Given the description of an element on the screen output the (x, y) to click on. 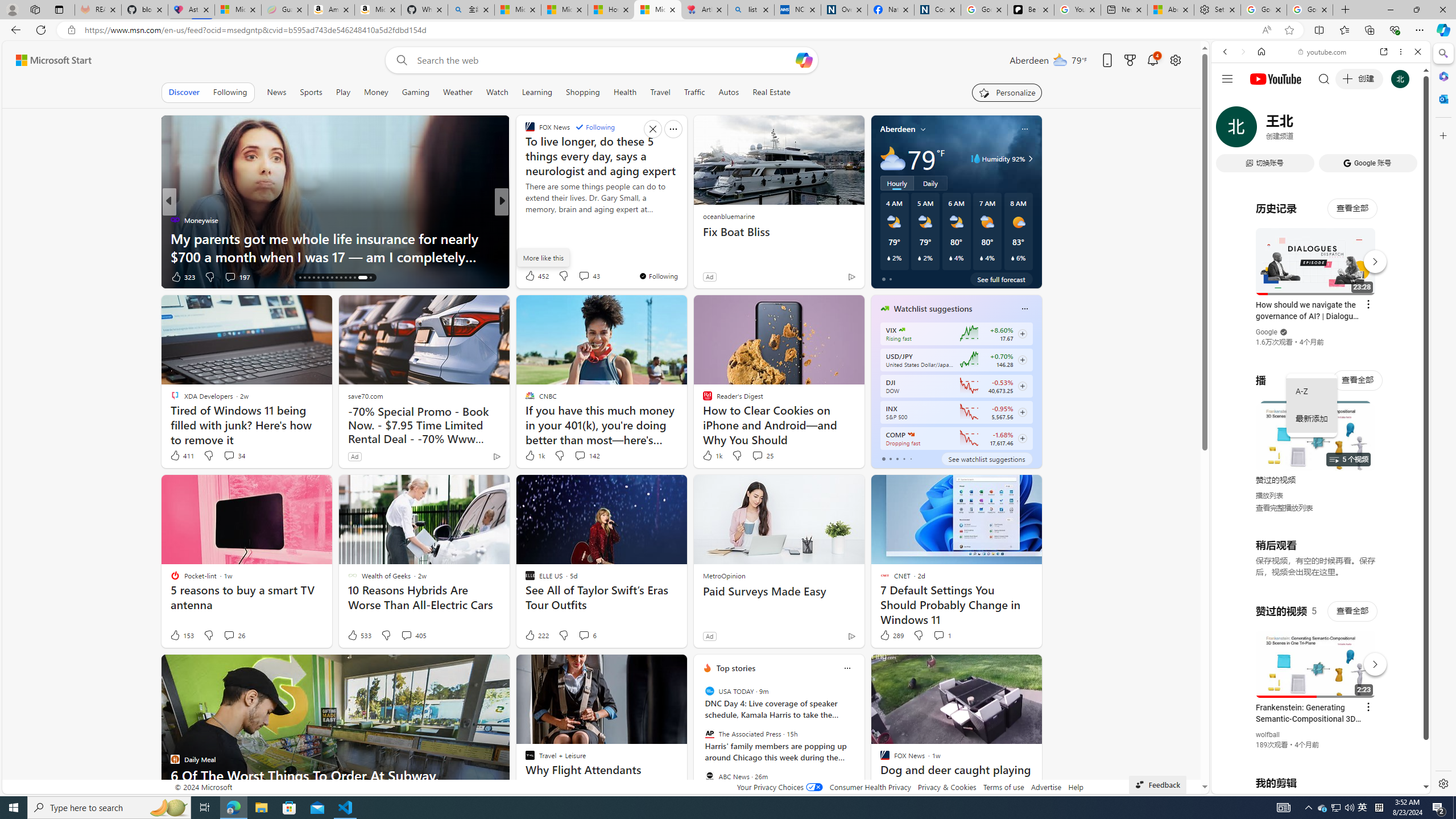
View comments 26 Comment (228, 635)
USA TODAY (709, 691)
AutomationID: tab-24 (336, 277)
Music (1320, 309)
411 Like (181, 455)
tab-4 (910, 458)
Watchlist suggestions (932, 308)
